Given the description of an element on the screen output the (x, y) to click on. 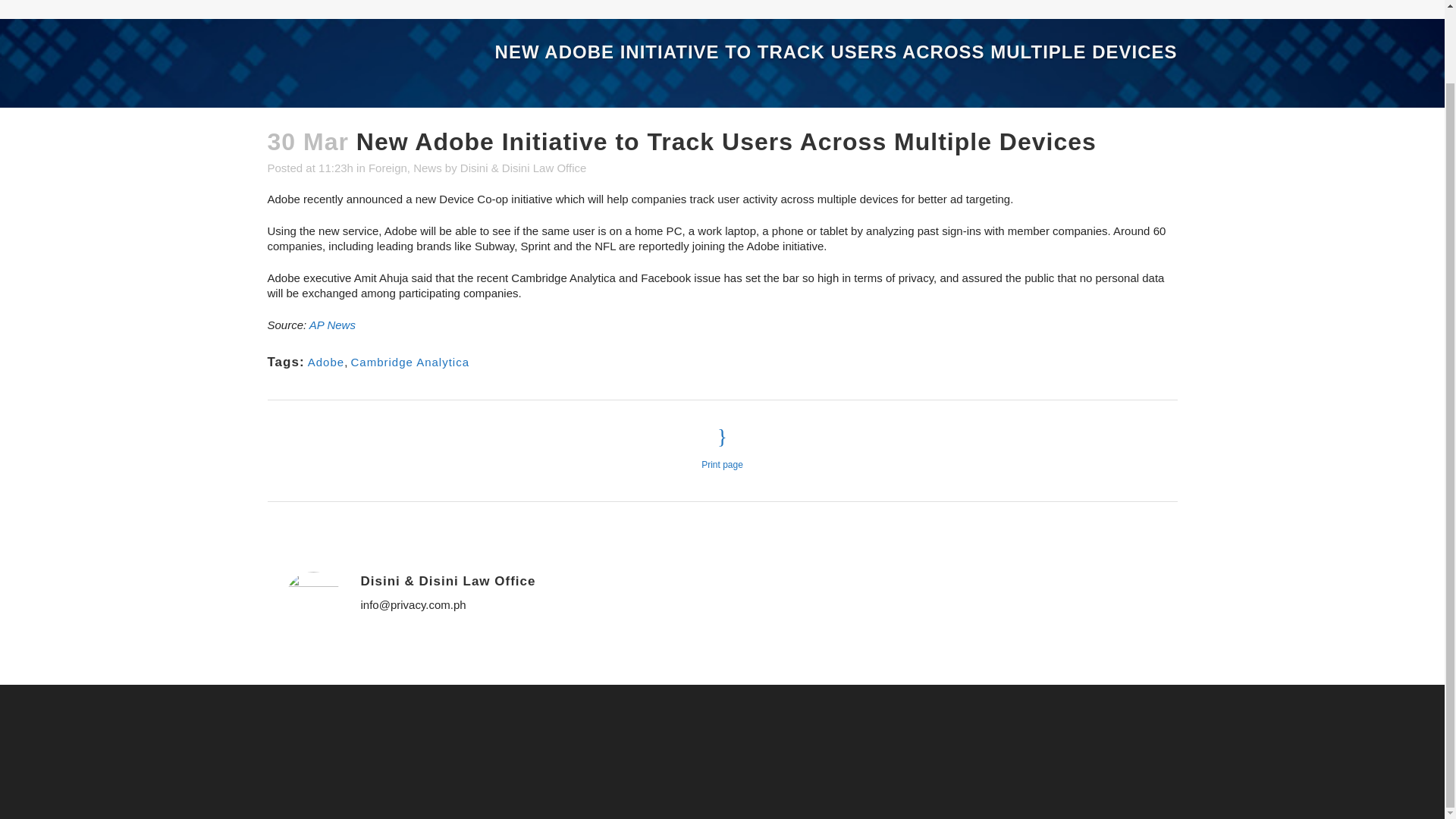
Cambridge Analytica (409, 361)
Foreign (387, 167)
Print page (721, 448)
News (427, 167)
HOME (935, 9)
Adobe (325, 361)
AP News (331, 324)
OUR TEAM (1016, 9)
CONTACT US (1121, 9)
